Given the description of an element on the screen output the (x, y) to click on. 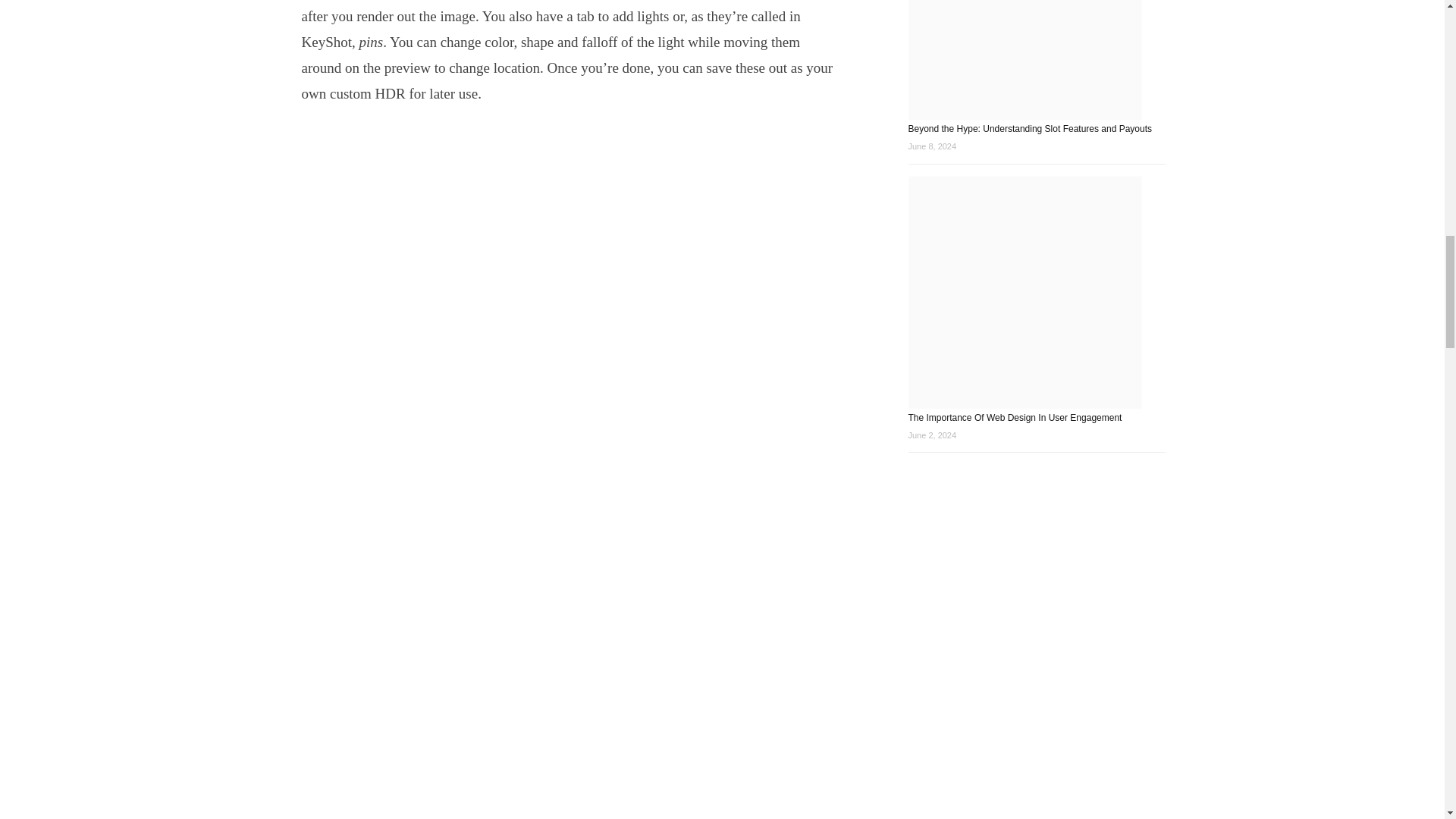
keyshot-hdr-editor-02 (570, 648)
keyshot-hdr-editor-03 (570, 816)
